Given the description of an element on the screen output the (x, y) to click on. 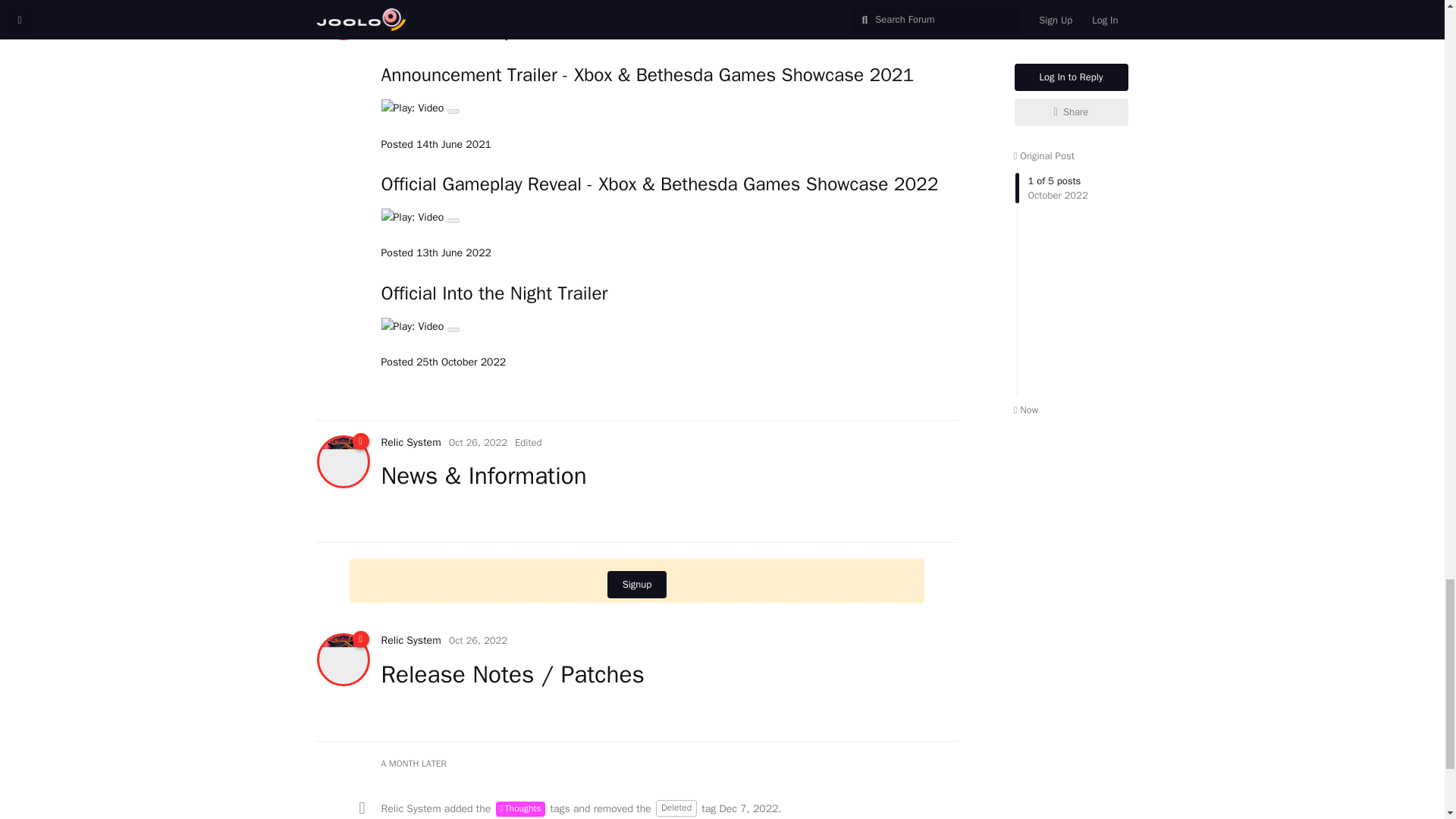
Oct 26, 2022 (477, 0)
Oct 26, 2022 (477, 441)
Relic System (410, 0)
Wednesday, December 7, 2022 11:44 AM (748, 808)
Thoughts (521, 808)
Wednesday, October 26, 2022 4:17 PM (477, 0)
Relic System (410, 441)
Wednesday, October 26, 2022 4:30 PM (477, 640)
Play: Video (668, 224)
